Given the description of an element on the screen output the (x, y) to click on. 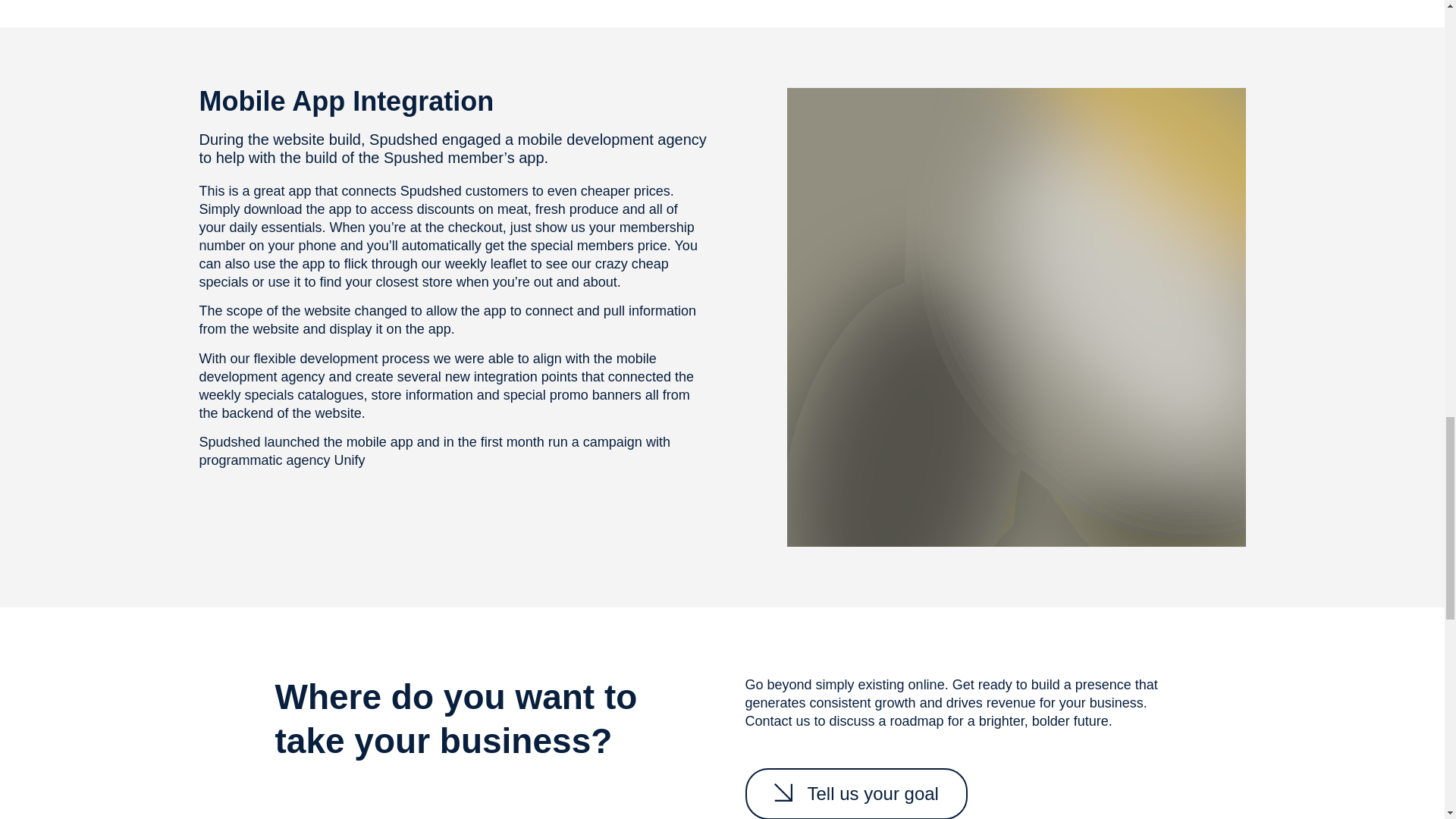
Tell us your goal (855, 793)
